Given the description of an element on the screen output the (x, y) to click on. 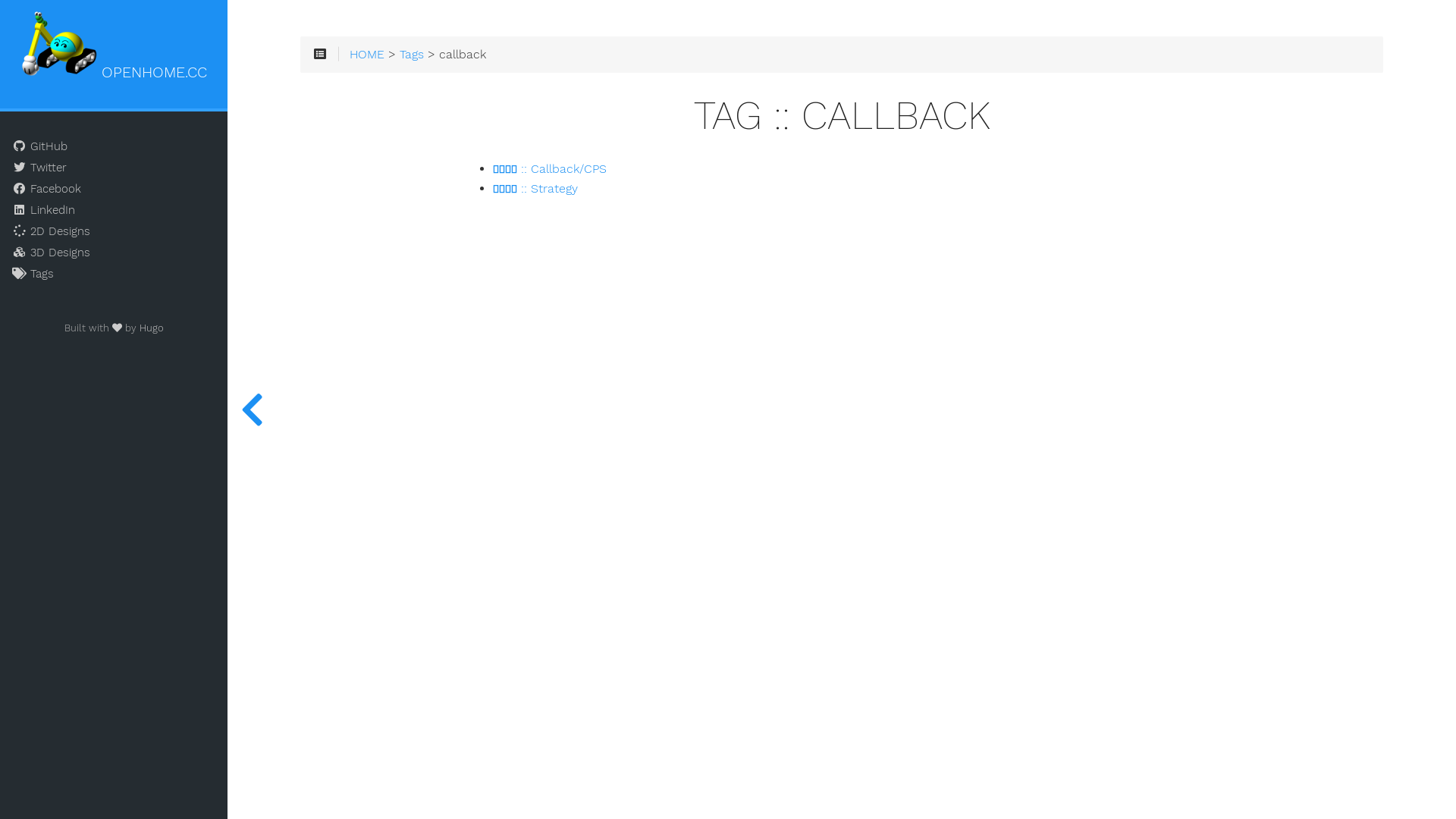
Tags Element type: text (113, 273)
callback Element type: text (462, 54)
GitHub Element type: text (113, 146)
Hugo Element type: text (151, 327)
HOME Element type: text (366, 54)
LinkedIn Element type: text (113, 209)
3D Designs Element type: text (113, 252)
OPENHOME.CC Element type: text (114, 47)
2D Designs Element type: text (113, 231)
Facebook Element type: text (113, 188)
Twitter Element type: text (113, 167)
Tags Element type: text (411, 54)
